Given the description of an element on the screen output the (x, y) to click on. 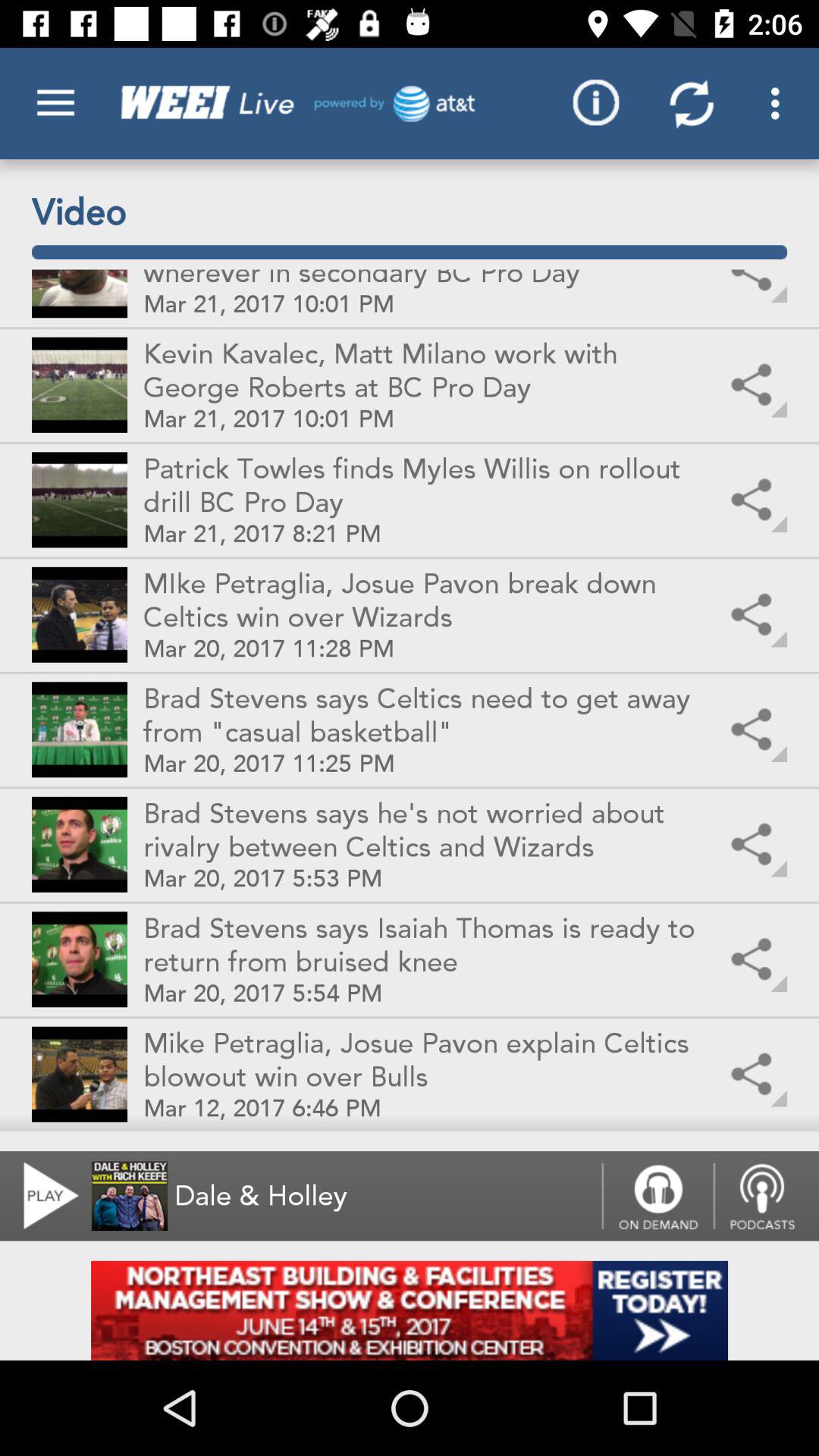
advertisement page (409, 1310)
